Given the description of an element on the screen output the (x, y) to click on. 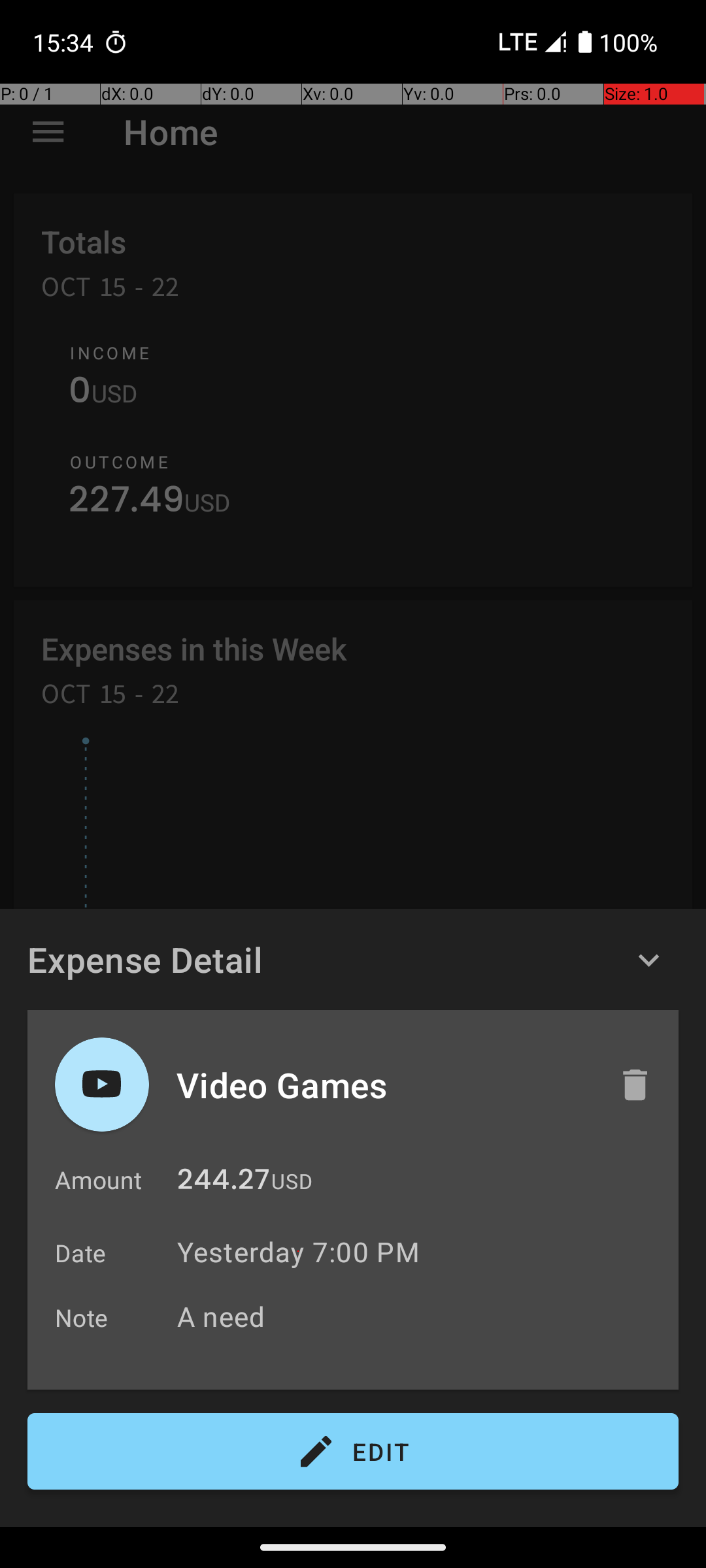
Video Games Element type: android.widget.TextView (383, 1084)
244.27 Element type: android.widget.TextView (223, 1182)
Yesterday 7:00 PM Element type: android.widget.TextView (298, 1251)
